Given the description of an element on the screen output the (x, y) to click on. 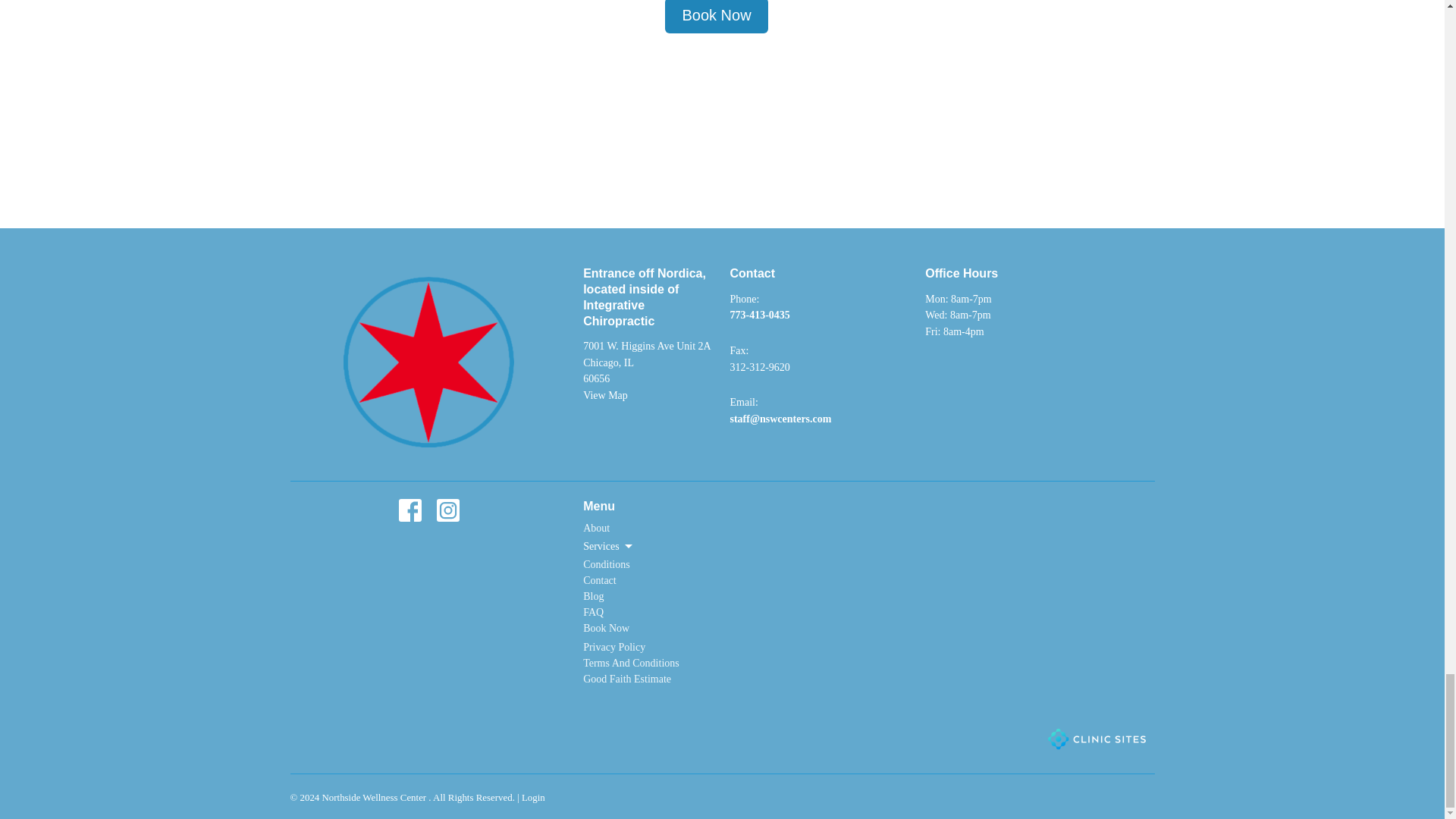
Book Now (605, 627)
773-413-0435 (759, 315)
translation missing: en.ui.fax (737, 350)
Contact (599, 580)
Services (608, 546)
Blog (593, 595)
Terms And Conditions (631, 663)
Privacy Policy (614, 646)
About (596, 527)
View Map (605, 395)
